Given the description of an element on the screen output the (x, y) to click on. 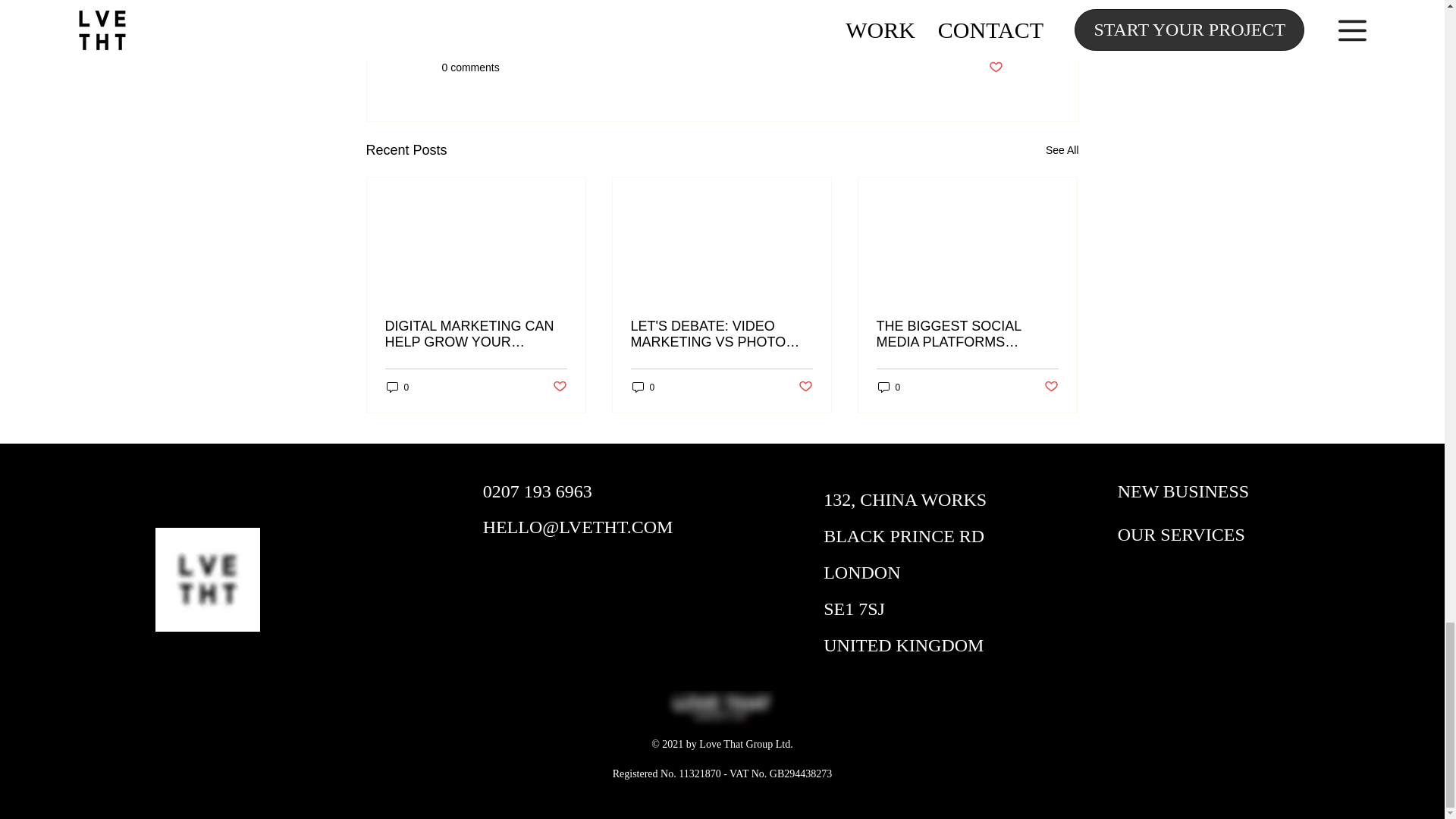
See All (1061, 150)
Post not marked as liked (558, 386)
Post not marked as liked (995, 67)
LET'S DEBATE: VIDEO MARKETING VS PHOTO MARKETING (721, 334)
0 (643, 386)
0 (397, 386)
